Given the description of an element on the screen output the (x, y) to click on. 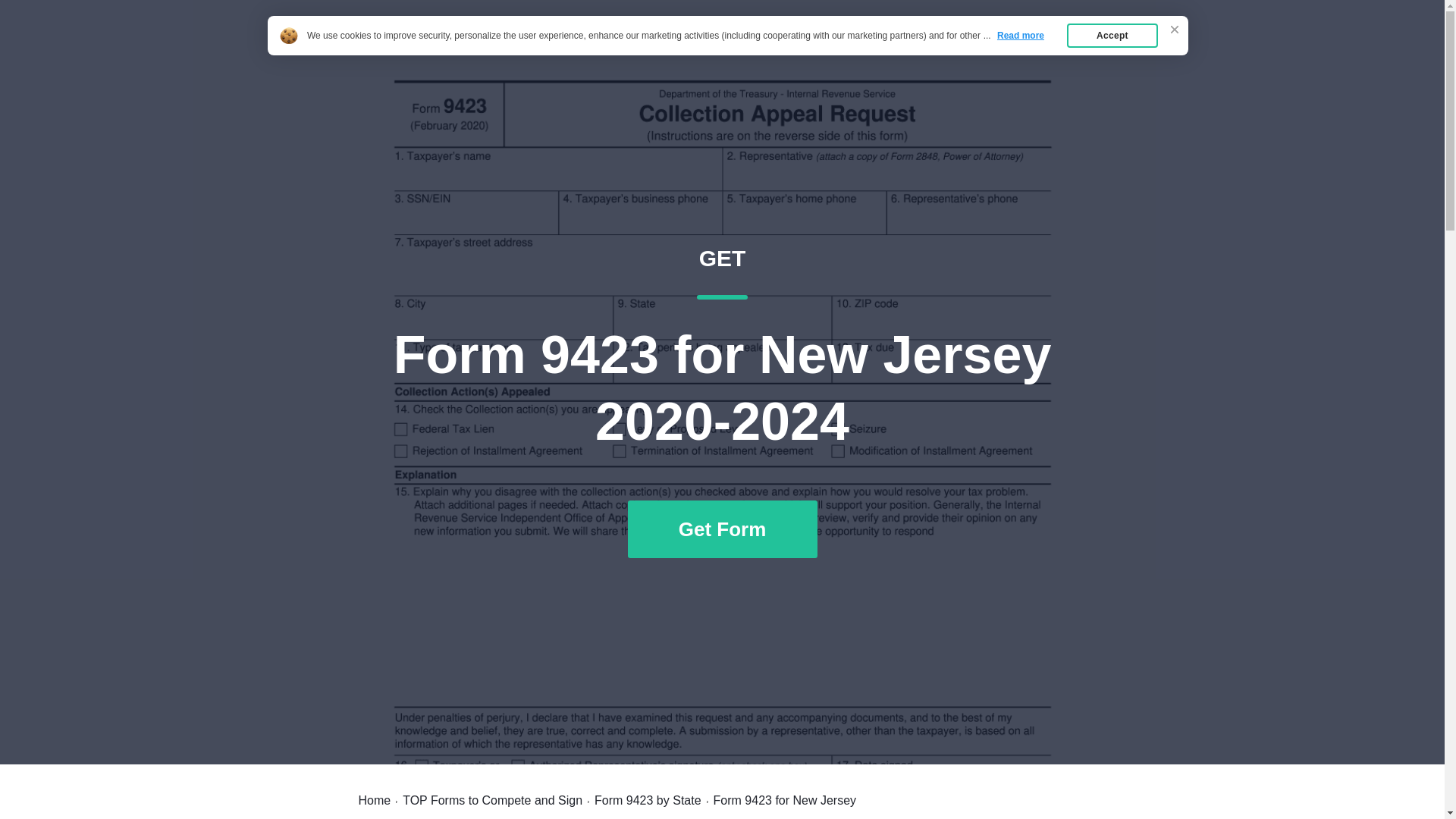
Form 9423 by State (647, 800)
Home (397, 46)
Home (374, 800)
TOP Forms to Compete and Sign (987, 47)
Top Forms (492, 800)
